Given the description of an element on the screen output the (x, y) to click on. 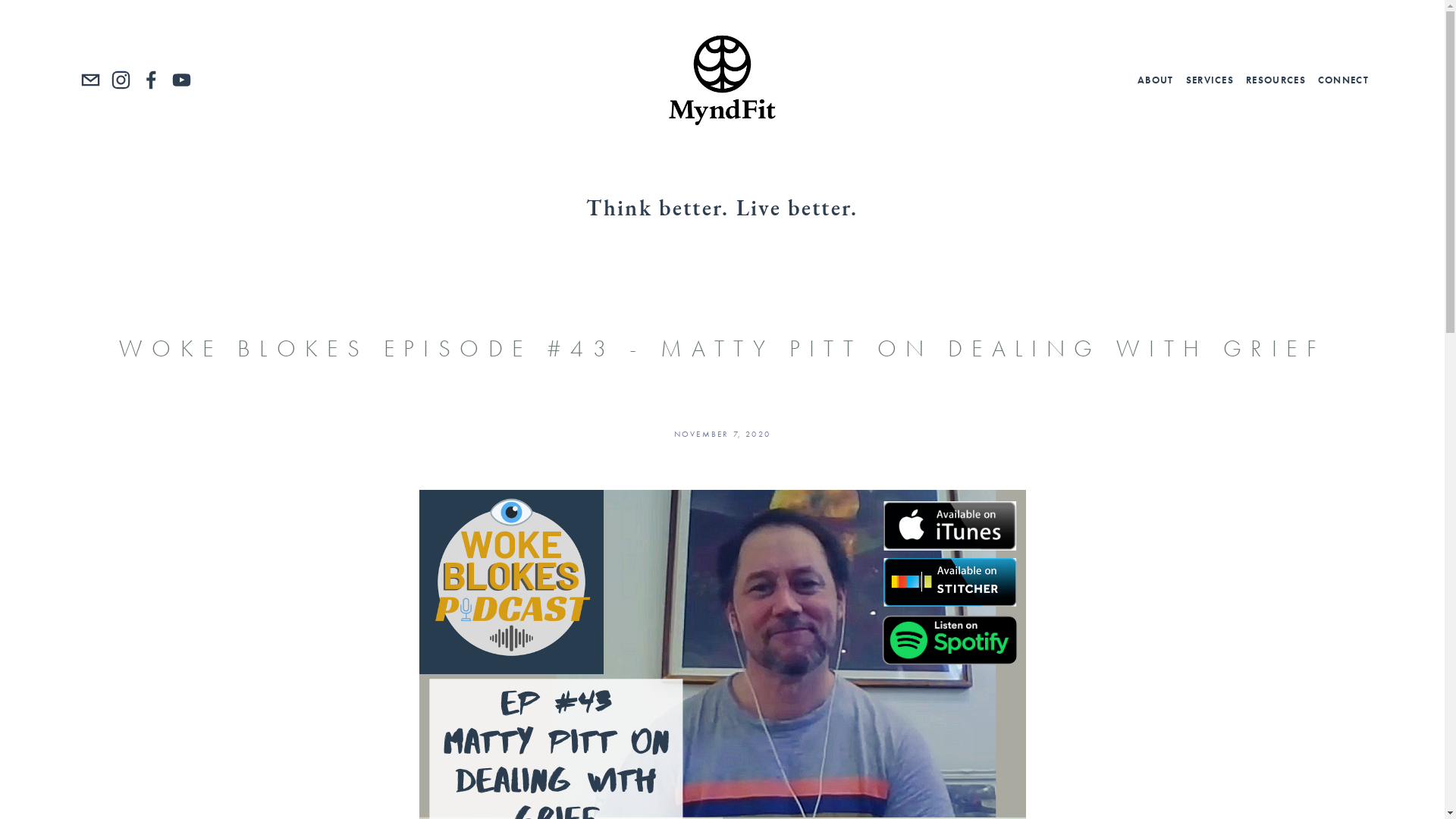
CONNECT Element type: text (1342, 80)
ABOUT Element type: text (1155, 79)
RESOURCES Element type: text (1275, 79)
SERVICES Element type: text (1209, 79)
